Given the description of an element on the screen output the (x, y) to click on. 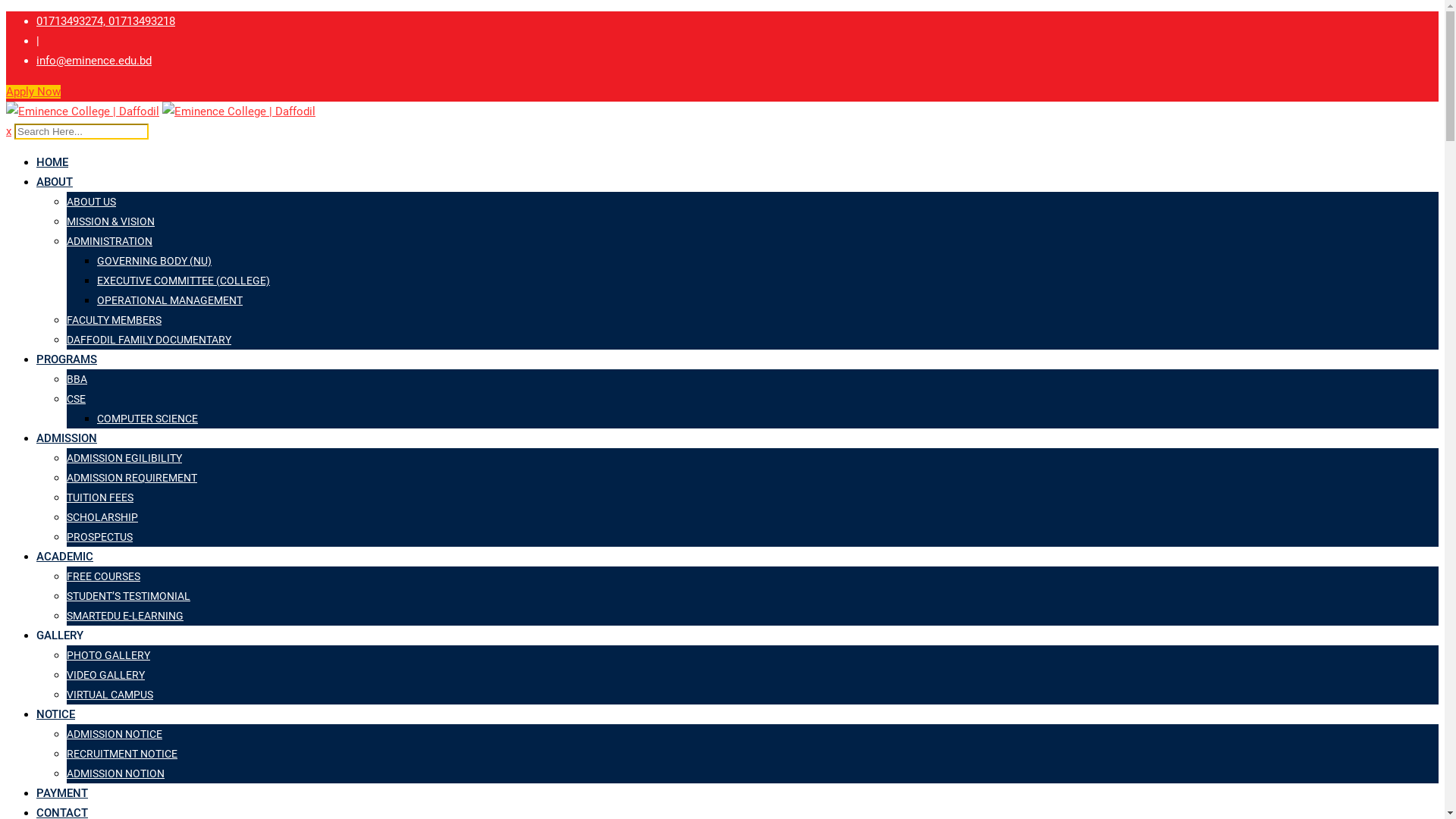
BBA Element type: text (76, 379)
01713493274, 01713493218 Element type: text (105, 21)
GALLERY Element type: text (59, 635)
PROSPECTUS Element type: text (99, 536)
VIRTUAL CAMPUS Element type: text (109, 694)
ADMISSION EGILIBILITY Element type: text (124, 457)
NOTICE Element type: text (55, 714)
ABOUT Element type: text (54, 181)
TUITION FEES Element type: text (99, 497)
x Element type: text (8, 131)
ADMISSION NOTICE Element type: text (114, 734)
COMPUTER SCIENCE Element type: text (147, 418)
ADMISSION NOTION Element type: text (115, 773)
CSE Element type: text (75, 398)
FREE COURSES Element type: text (103, 576)
PROGRAMS Element type: text (66, 359)
ADMISSION REQUIREMENT Element type: text (131, 477)
MISSION & VISION Element type: text (110, 221)
FACULTY MEMBERS Element type: text (113, 319)
PHOTO GALLERY Element type: text (108, 655)
OPERATIONAL MANAGEMENT Element type: text (169, 300)
ABOUT US Element type: text (91, 201)
DAFFODIL FAMILY DOCUMENTARY Element type: text (148, 339)
Skip to content Element type: text (5, 10)
ADMINISTRATION Element type: text (109, 241)
HOME Element type: text (52, 162)
info@eminence.edu.bd Element type: text (93, 60)
VIDEO GALLERY Element type: text (105, 674)
SCHOLARSHIP Element type: text (102, 517)
SMARTEDU E-LEARNING Element type: text (124, 615)
ADMISSION Element type: text (66, 438)
PAYMENT Element type: text (61, 793)
ACADEMIC Element type: text (64, 556)
Apply Now Element type: text (33, 91)
EXECUTIVE COMMITTEE (COLLEGE) Element type: text (183, 280)
GOVERNING BODY (NU) Element type: text (154, 260)
RECRUITMENT NOTICE Element type: text (121, 753)
